Given the description of an element on the screen output the (x, y) to click on. 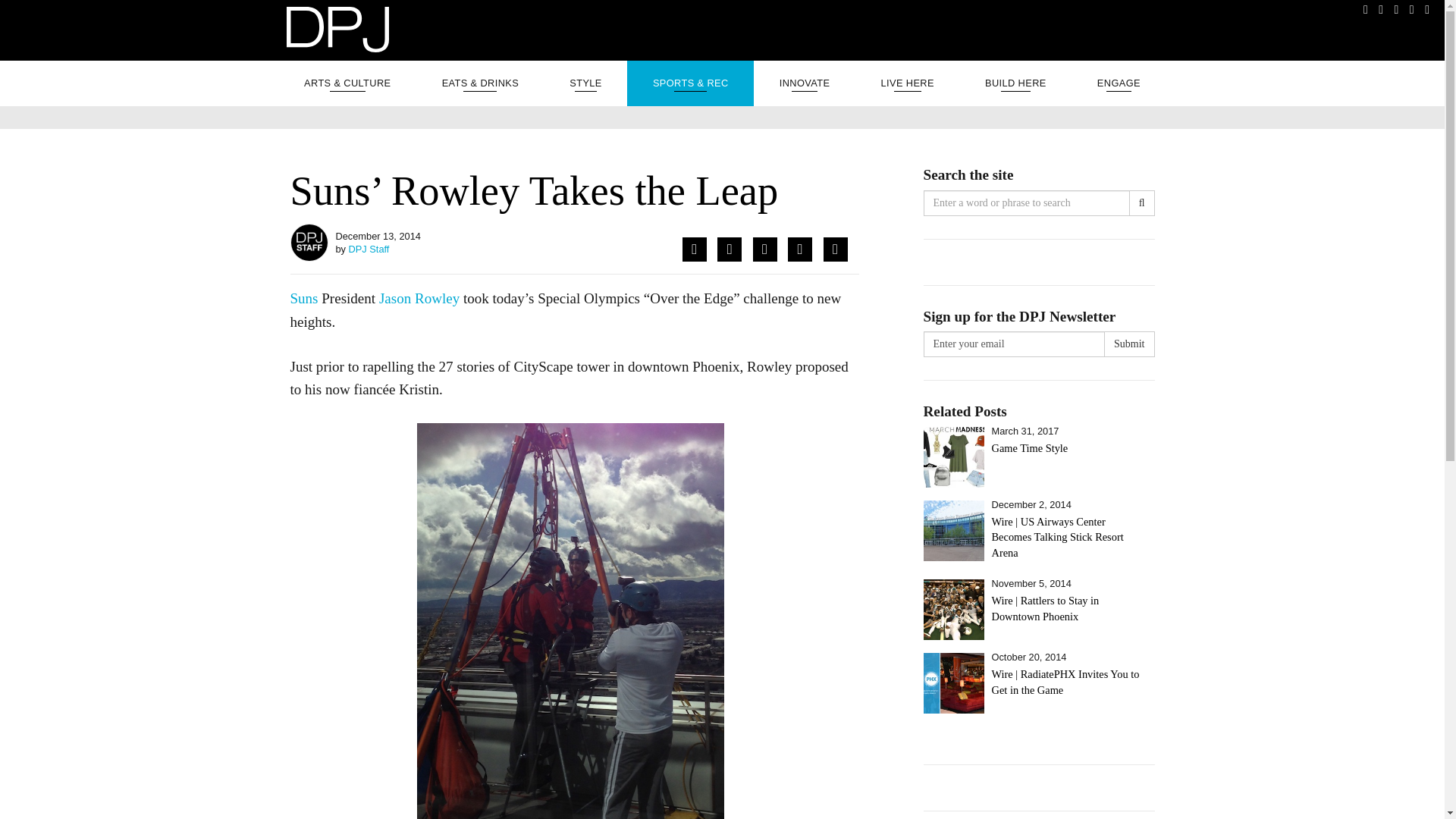
send to Facebook (694, 249)
Suns (303, 298)
Enter your email (1014, 344)
INNOVATE (805, 83)
Jason Rowley (419, 298)
Suns Rowley web (569, 621)
BUILD HERE (1015, 83)
DPJ Staff (369, 248)
Submit (1128, 344)
ENGAGE (1118, 83)
LIVE HERE (907, 83)
Posts by DPJ Staff (369, 248)
A Conversation with Jason Rowley (419, 298)
STYLE (585, 83)
Submit (1128, 344)
